Given the description of an element on the screen output the (x, y) to click on. 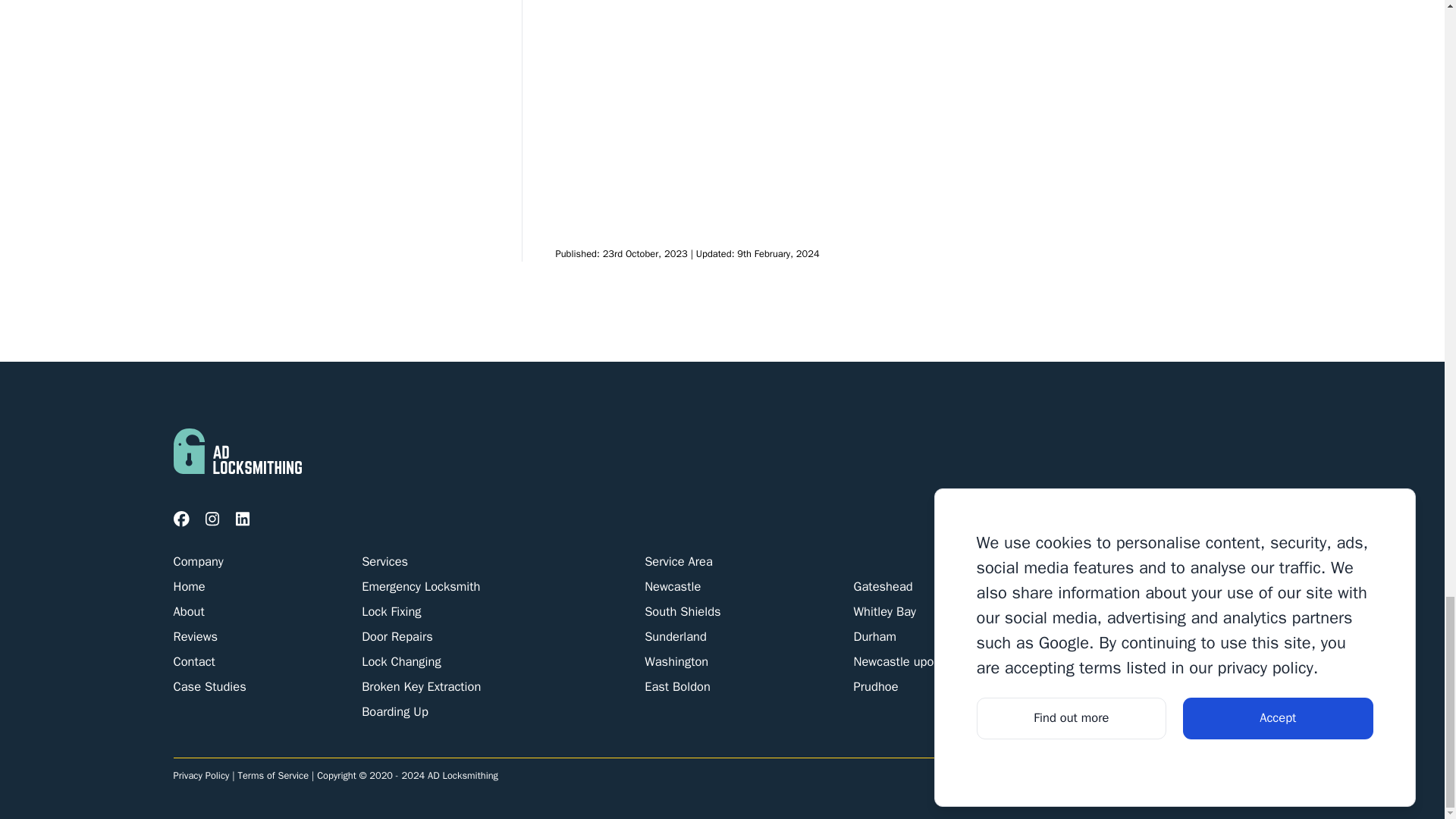
Door Repairs (396, 636)
Whitley Bay (884, 611)
Case Studies (209, 686)
Gateshead (882, 586)
Wallsend (1087, 611)
About (188, 611)
North Shields (1099, 586)
Lock Changing (401, 661)
Reviews (194, 636)
Broken Key Extraction (420, 686)
Newcastle (672, 586)
Contact (193, 661)
Boarding Up (394, 711)
Home (189, 586)
South Shields (682, 611)
